Given the description of an element on the screen output the (x, y) to click on. 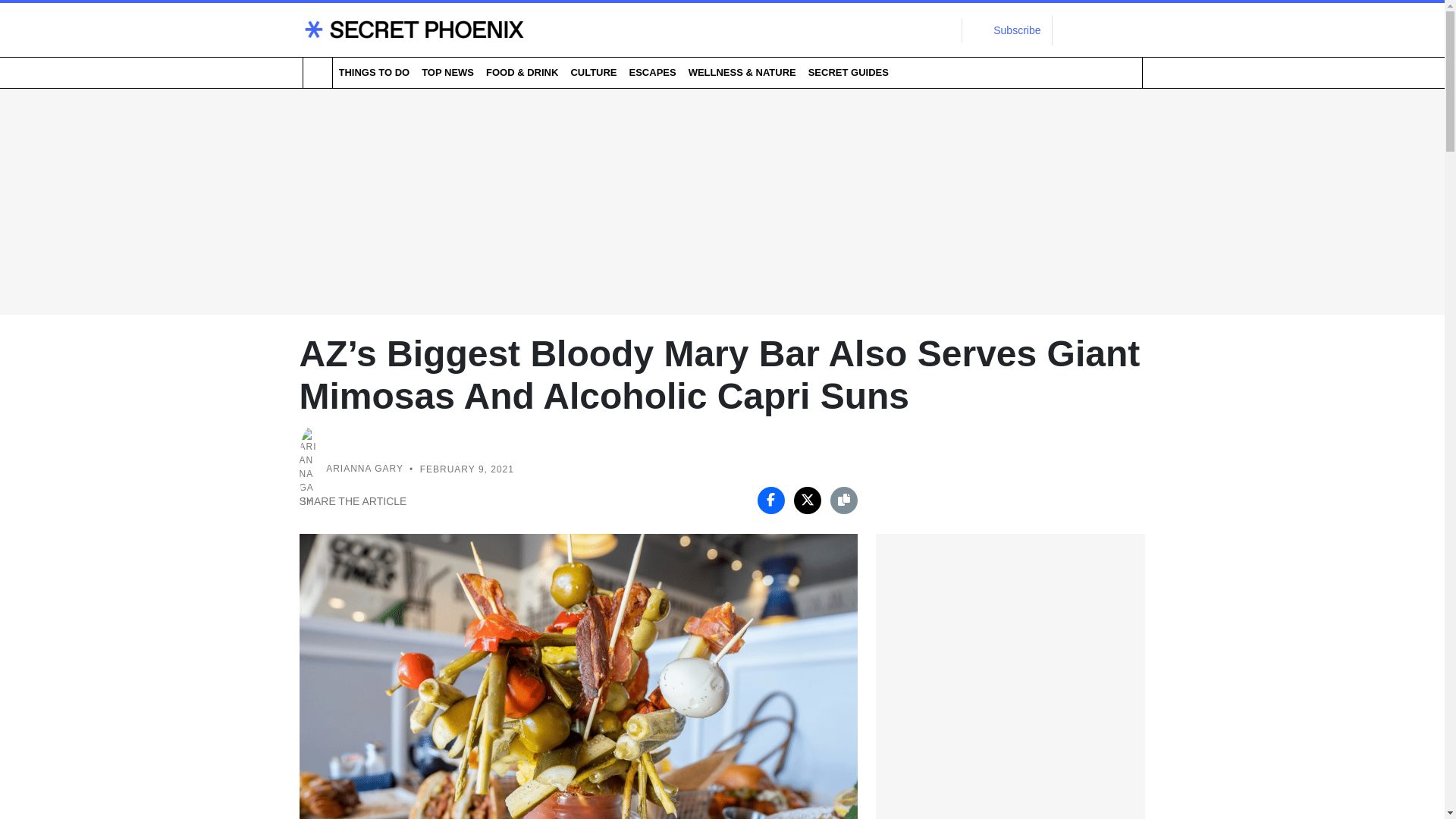
TOP NEWS (448, 72)
SECRET GUIDES (848, 72)
CULTURE (592, 72)
ARIANNA GARY (364, 469)
THINGS TO DO (373, 72)
ESCAPES (652, 72)
